Given the description of an element on the screen output the (x, y) to click on. 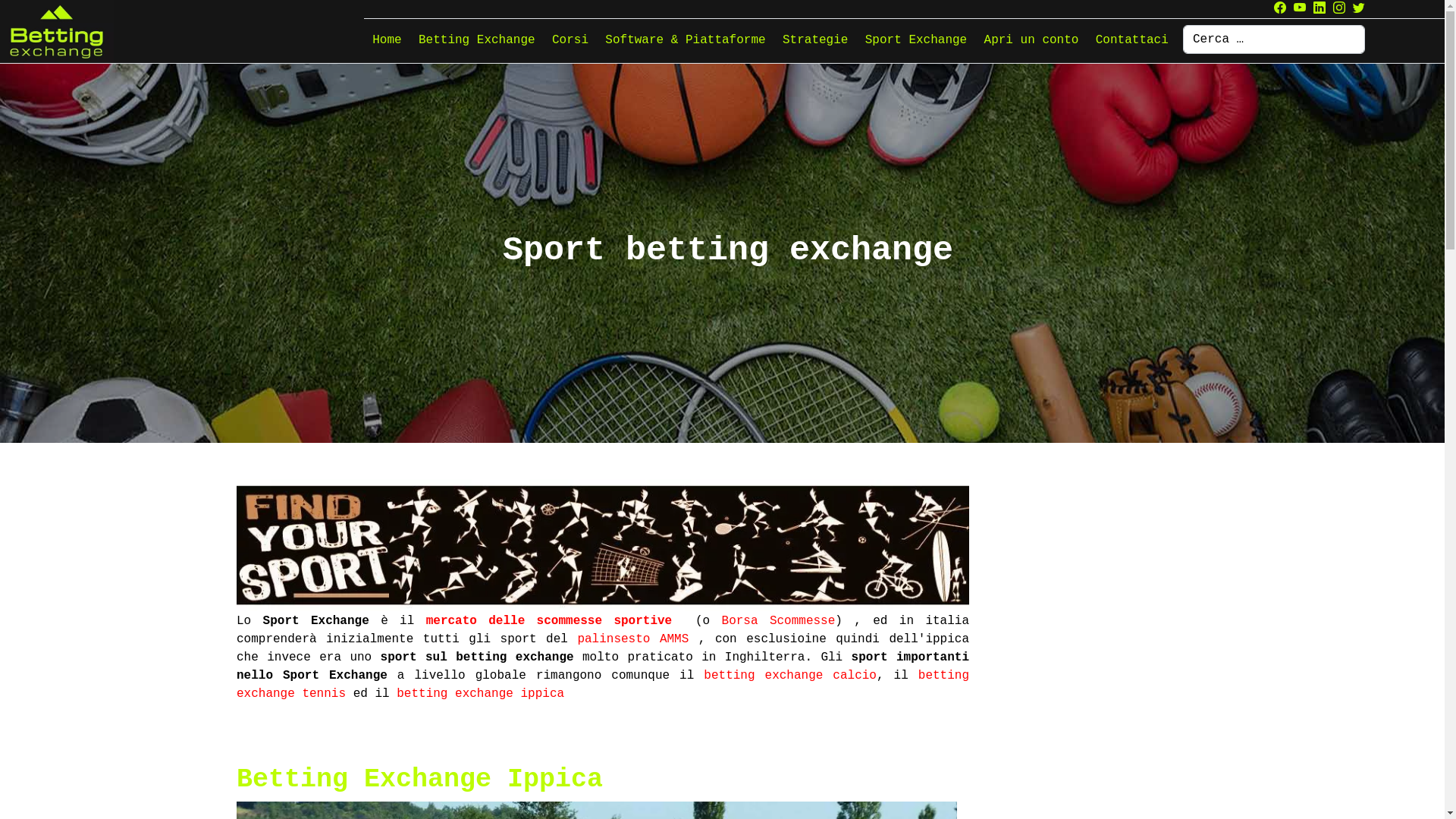
Sport Exchange Element type: text (915, 40)
Twitter Element type: hover (1358, 9)
mercato delle scommesse sportive Element type: text (549, 620)
Strategie Element type: text (815, 40)
Facebook Element type: hover (1279, 9)
Software & Piattaforme Element type: text (685, 40)
Youtube Element type: hover (1299, 9)
Home Element type: text (387, 40)
betting exchange tennis Element type: text (602, 684)
Sport Exchange Element type: hover (602, 545)
Corsi Element type: text (569, 40)
Borsa Scommesse Element type: text (778, 620)
Linkedin Element type: hover (1319, 9)
Betting Exchange Ippica Element type: text (419, 779)
Contattaci Element type: text (1131, 40)
palinsesto AMMS Element type: text (632, 639)
Betting Exchange Element type: text (476, 40)
betting exchange ippica Element type: text (480, 693)
Apri un conto Element type: text (1030, 40)
Instagram Element type: hover (1339, 9)
betting exchange calcio Element type: text (789, 675)
